Given the description of an element on the screen output the (x, y) to click on. 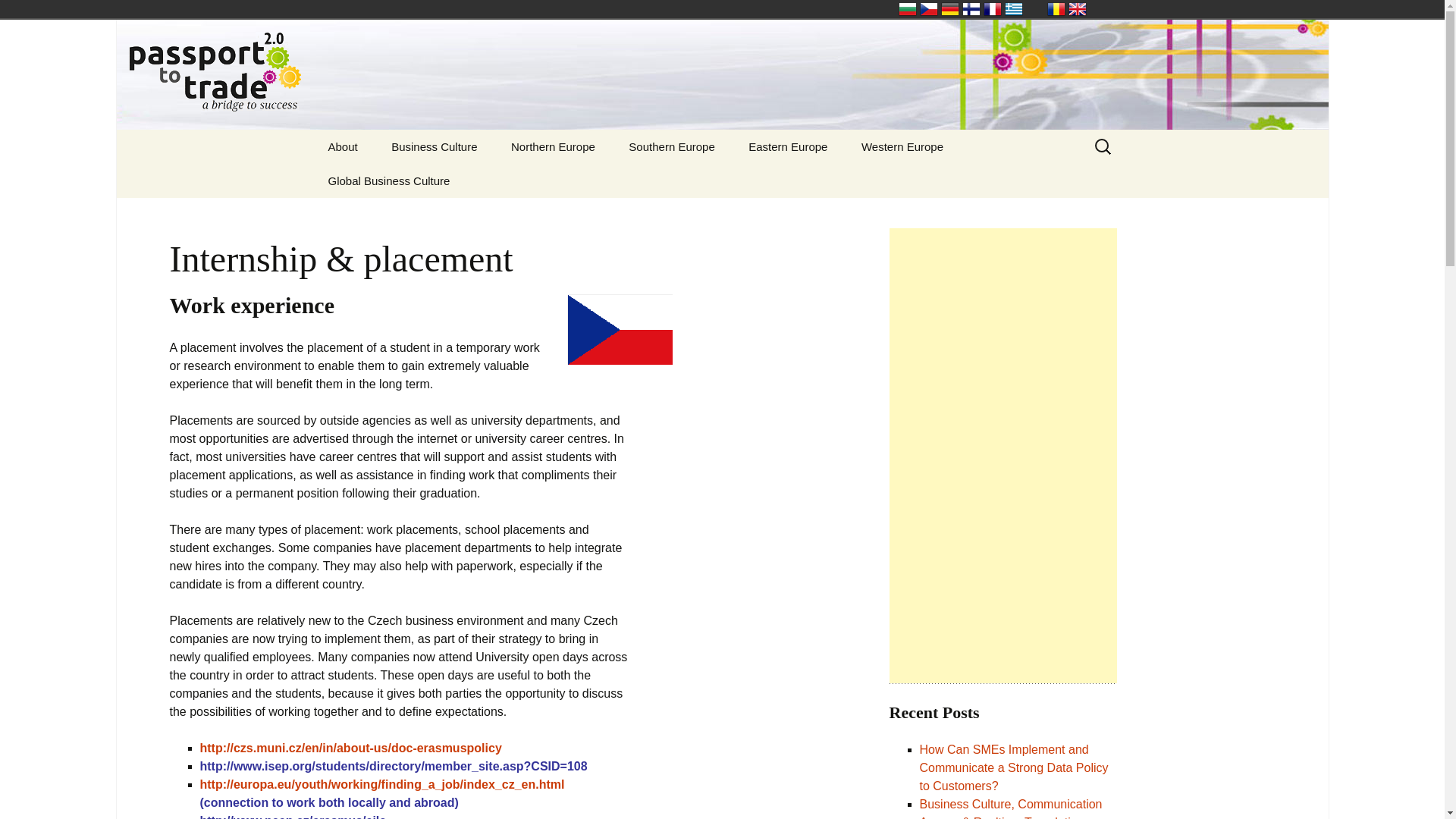
Eastern Europe (788, 146)
Purchase guides (388, 180)
Business Culture (433, 146)
Northern Europe (553, 146)
Croatia (688, 180)
Social Networking (451, 180)
Southern Europe (670, 146)
